Given the description of an element on the screen output the (x, y) to click on. 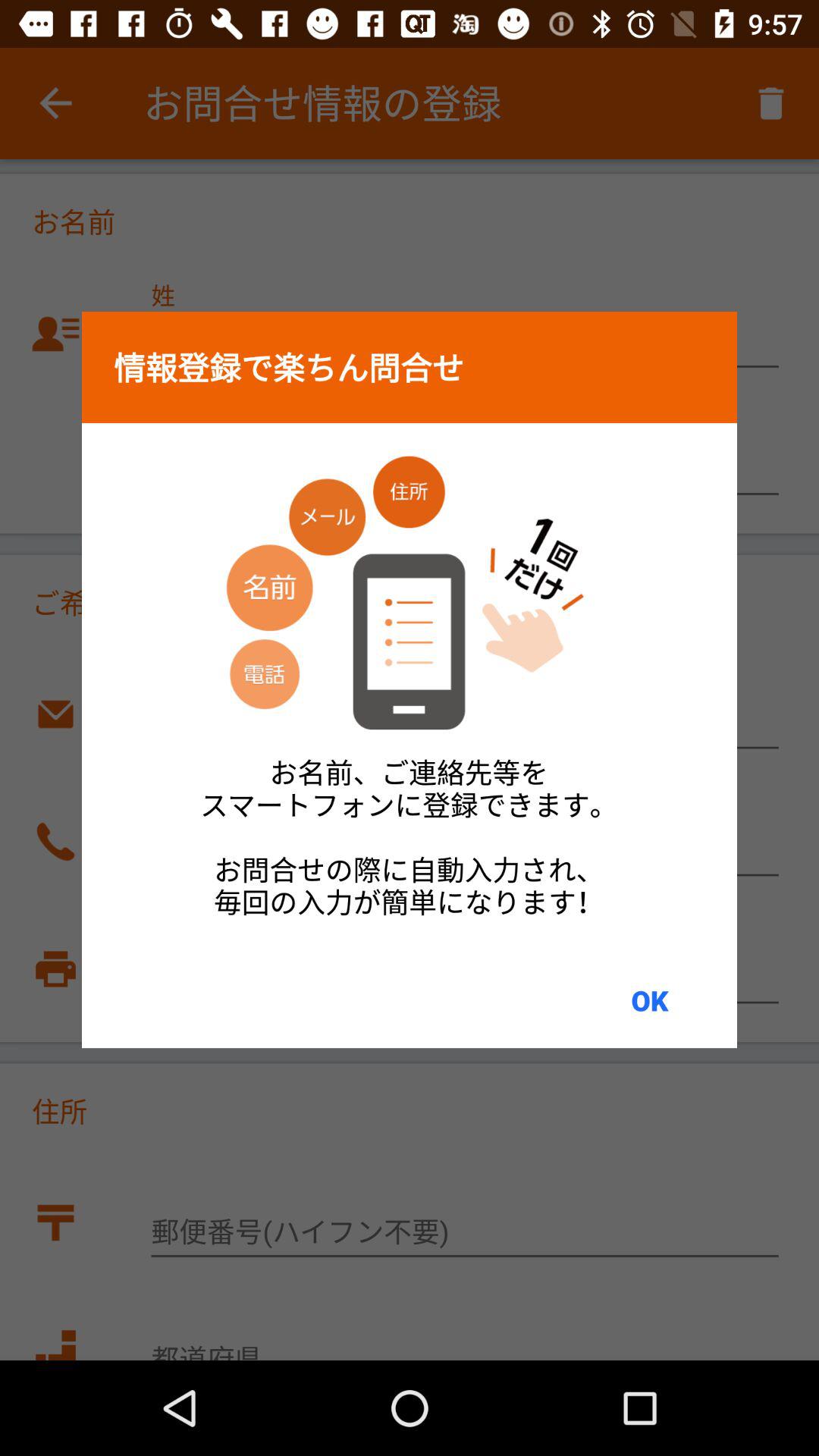
select ok item (649, 1000)
